Given the description of an element on the screen output the (x, y) to click on. 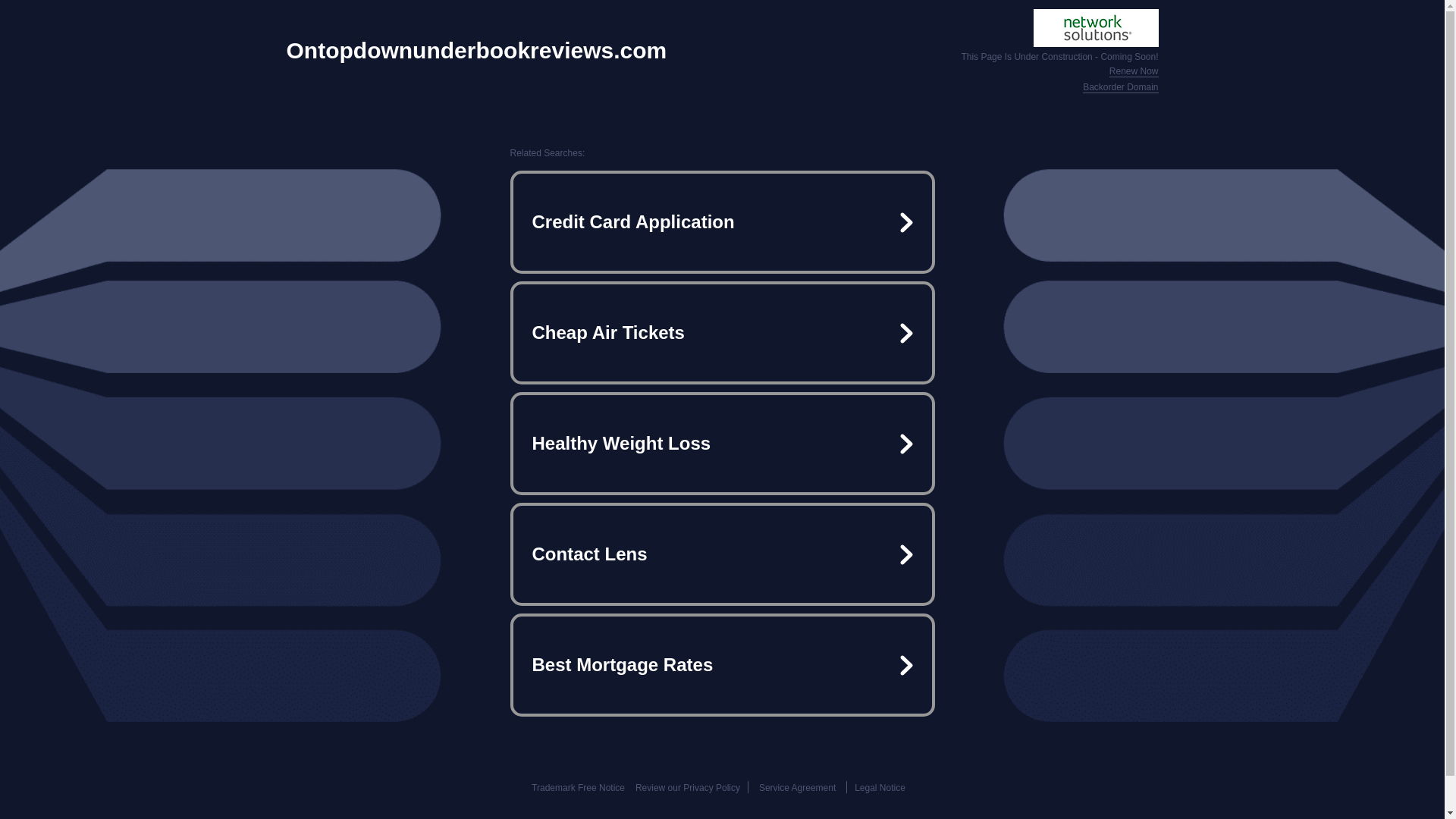
Credit Card Application (721, 222)
Contact Lens (721, 554)
Review our Privacy Policy (686, 787)
Best Mortgage Rates (721, 664)
Renew Now (1133, 71)
Contact Lens (721, 554)
Cheap Air Tickets (721, 332)
Service Agreement (796, 787)
Healthy Weight Loss (721, 443)
Trademark Free Notice (577, 787)
Cheap Air Tickets (721, 332)
Credit Card Application (721, 222)
Legal Notice (879, 787)
Ontopdownunderbookreviews.com (476, 50)
Best Mortgage Rates (721, 664)
